Given the description of an element on the screen output the (x, y) to click on. 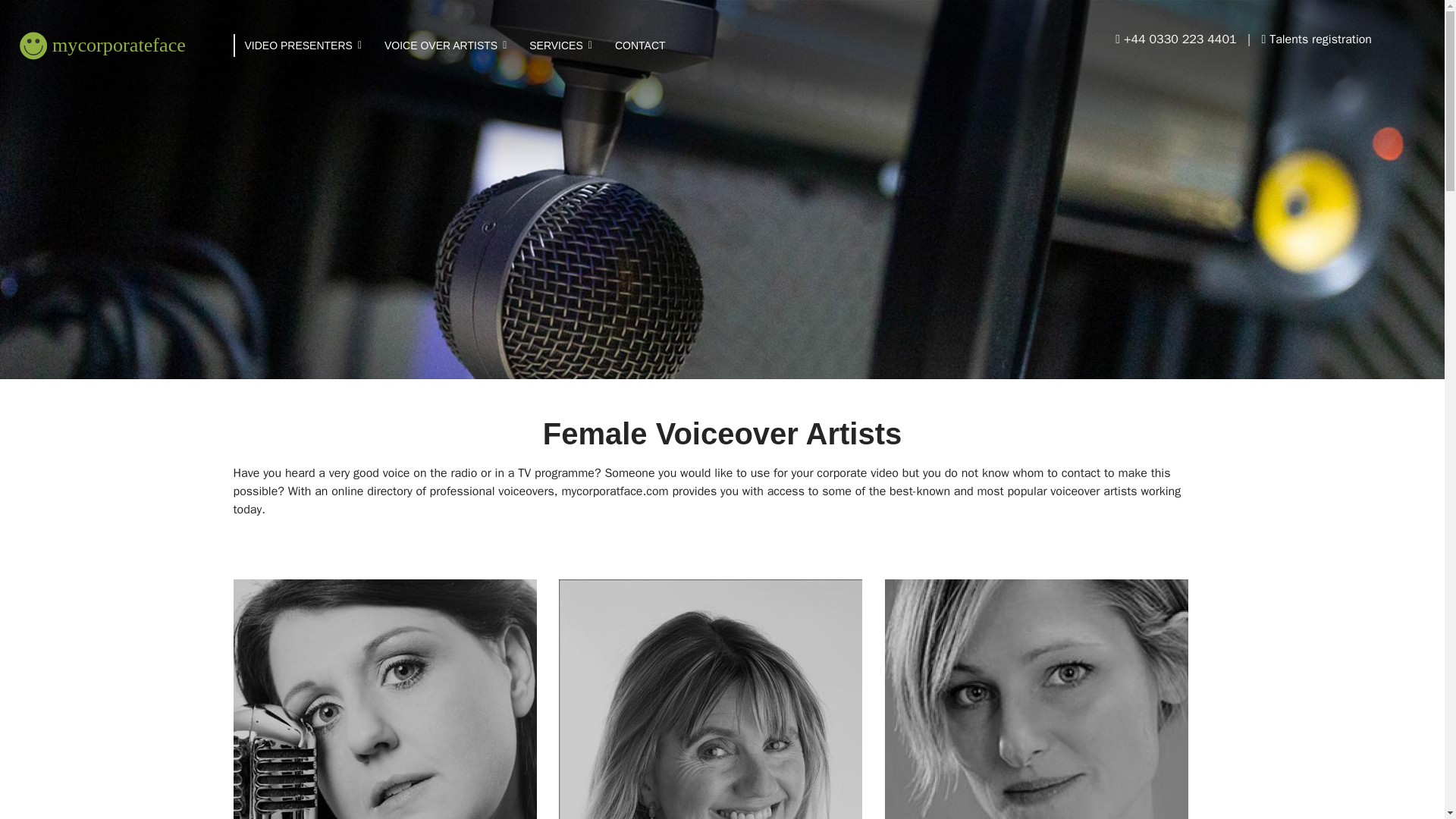
VOICE OVER ARTISTS (445, 53)
SERVICES (561, 48)
VIDEO PRESENTERS (303, 63)
Talents registration (1316, 39)
CONTACT (634, 45)
